Given the description of an element on the screen output the (x, y) to click on. 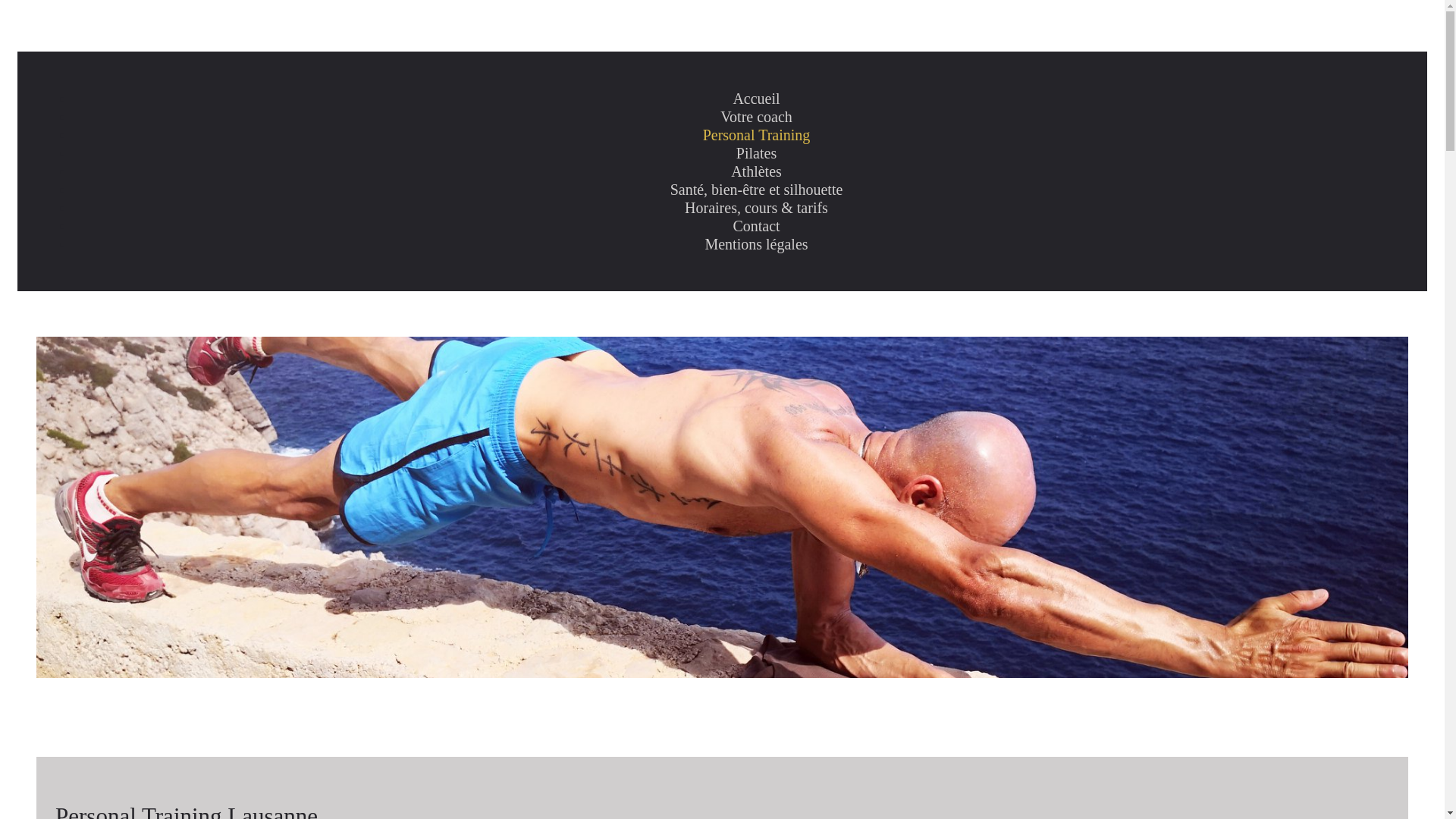
Pilates Element type: text (756, 153)
Personal Training Element type: text (756, 134)
Contact Element type: text (755, 225)
Horaires, cours & tarifs Element type: text (756, 207)
Accueil Element type: text (755, 98)
Votre coach Element type: text (756, 116)
